Given the description of an element on the screen output the (x, y) to click on. 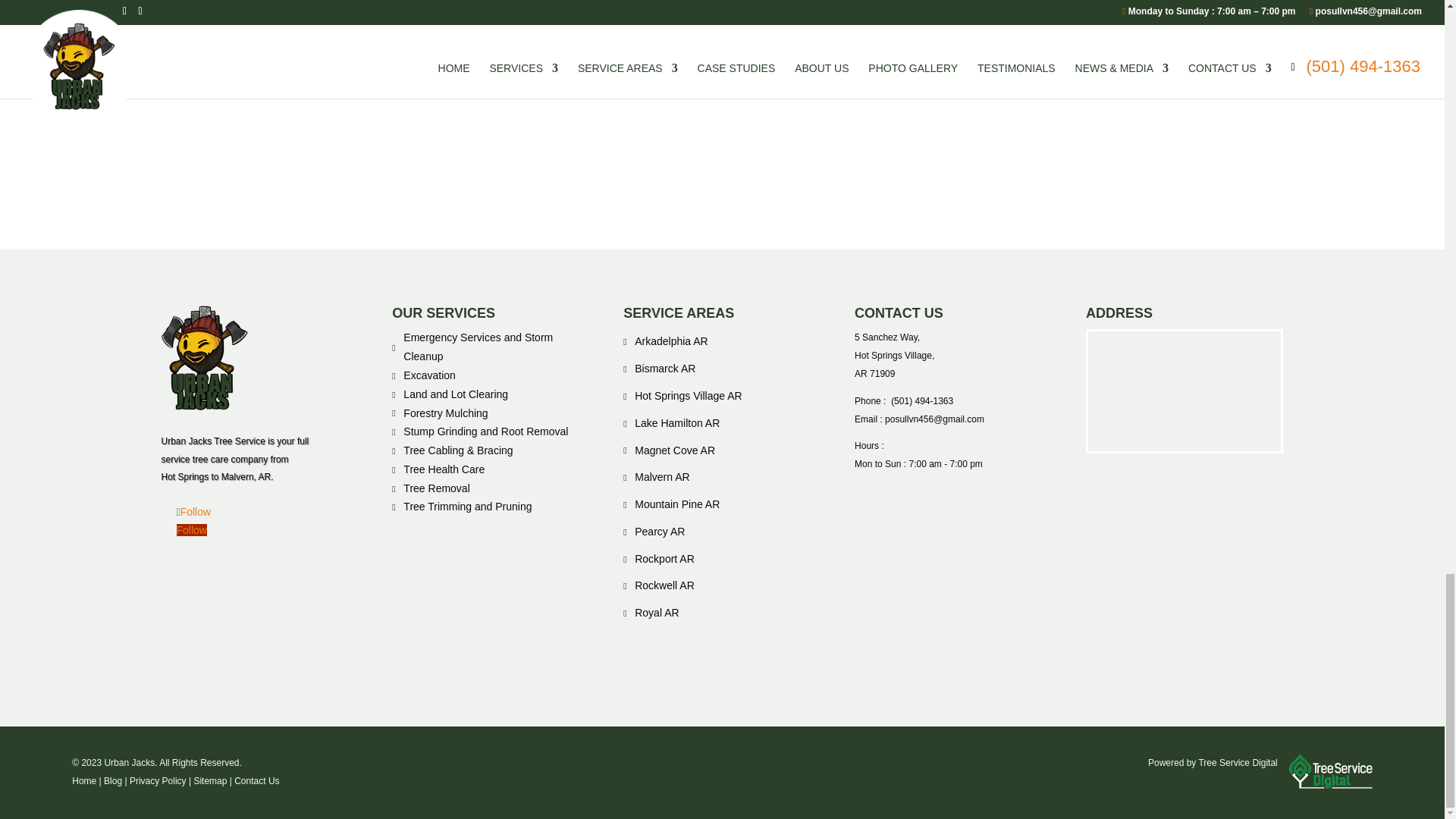
Follow on Facebook (193, 511)
Follow on Youtube (191, 530)
